Given the description of an element on the screen output the (x, y) to click on. 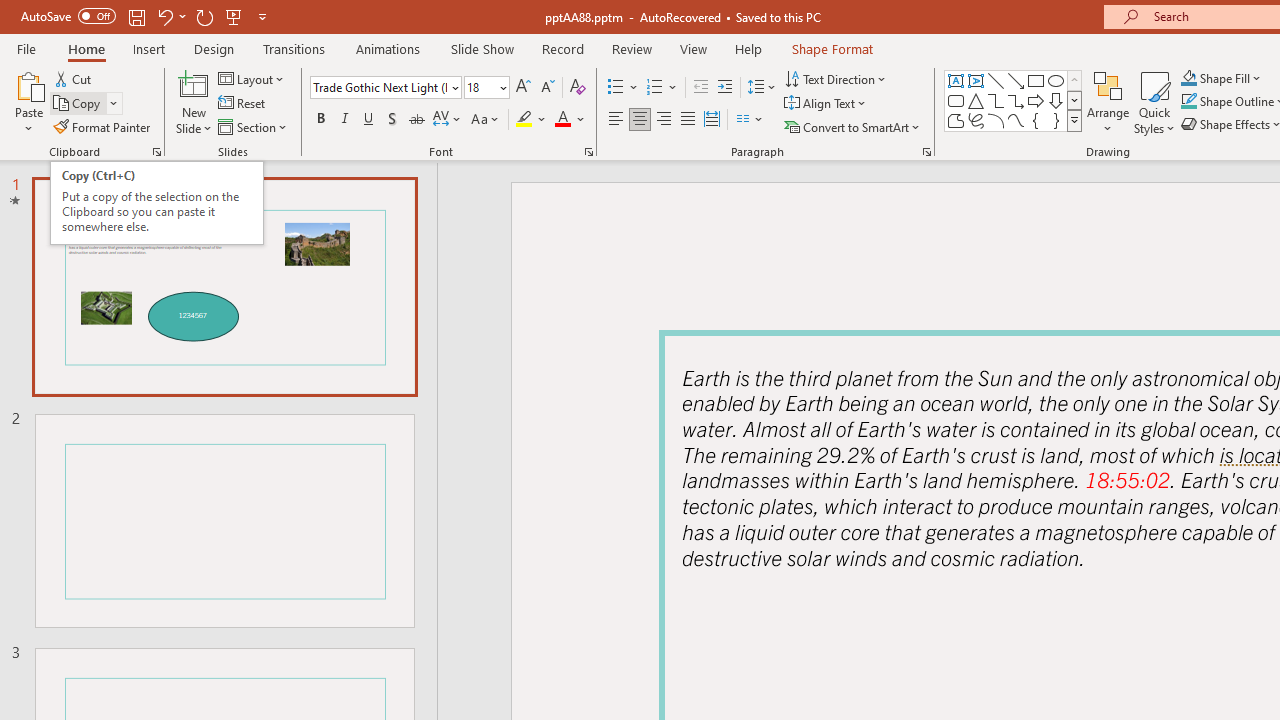
Shape Outline Teal, Accent 1 (1188, 101)
